Given the description of an element on the screen output the (x, y) to click on. 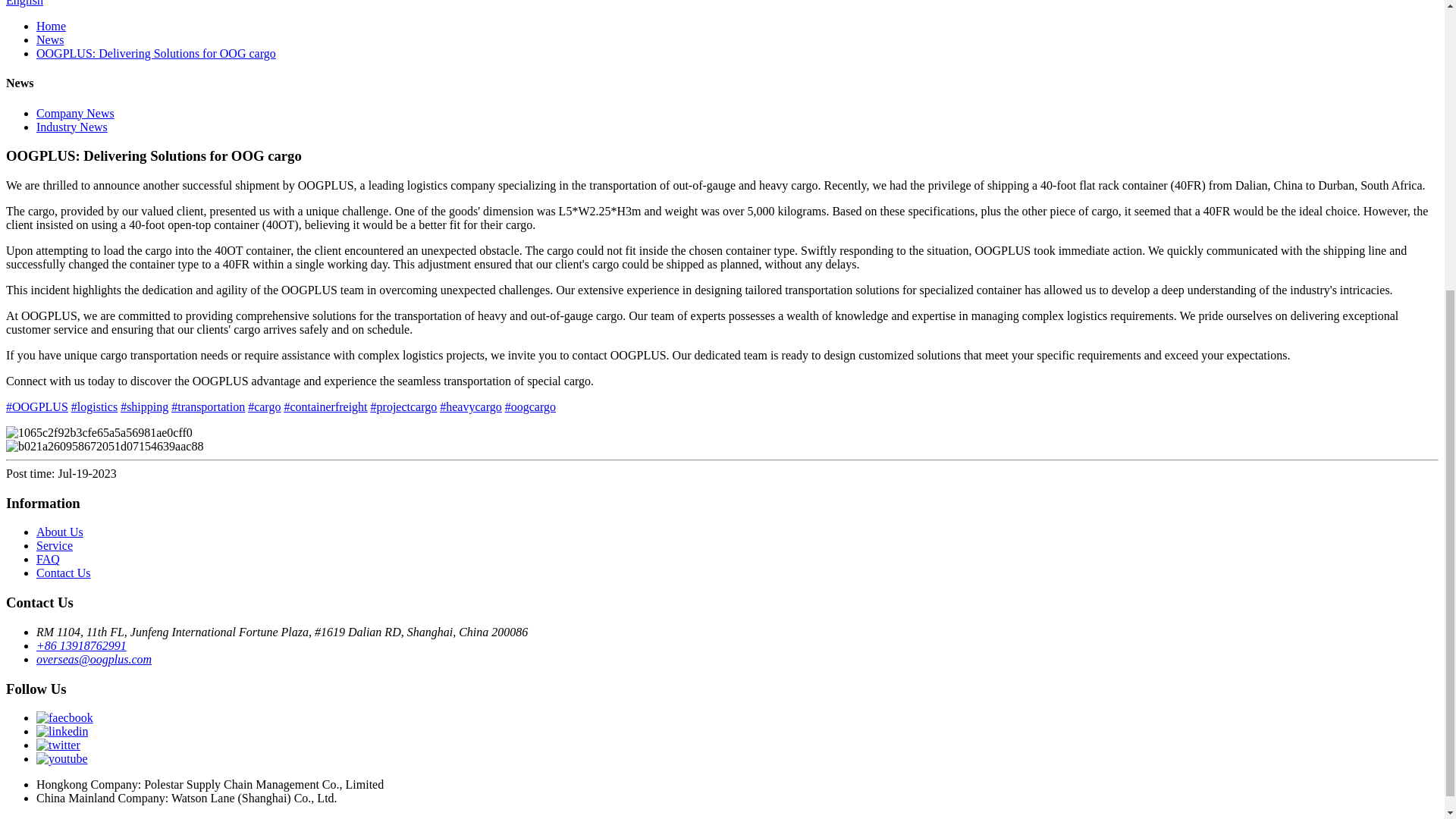
News (50, 39)
Home (50, 25)
OOGPLUS: Delivering Solutions for OOG cargo (156, 52)
Company News (75, 113)
English (24, 3)
Industry News (71, 126)
